Given the description of an element on the screen output the (x, y) to click on. 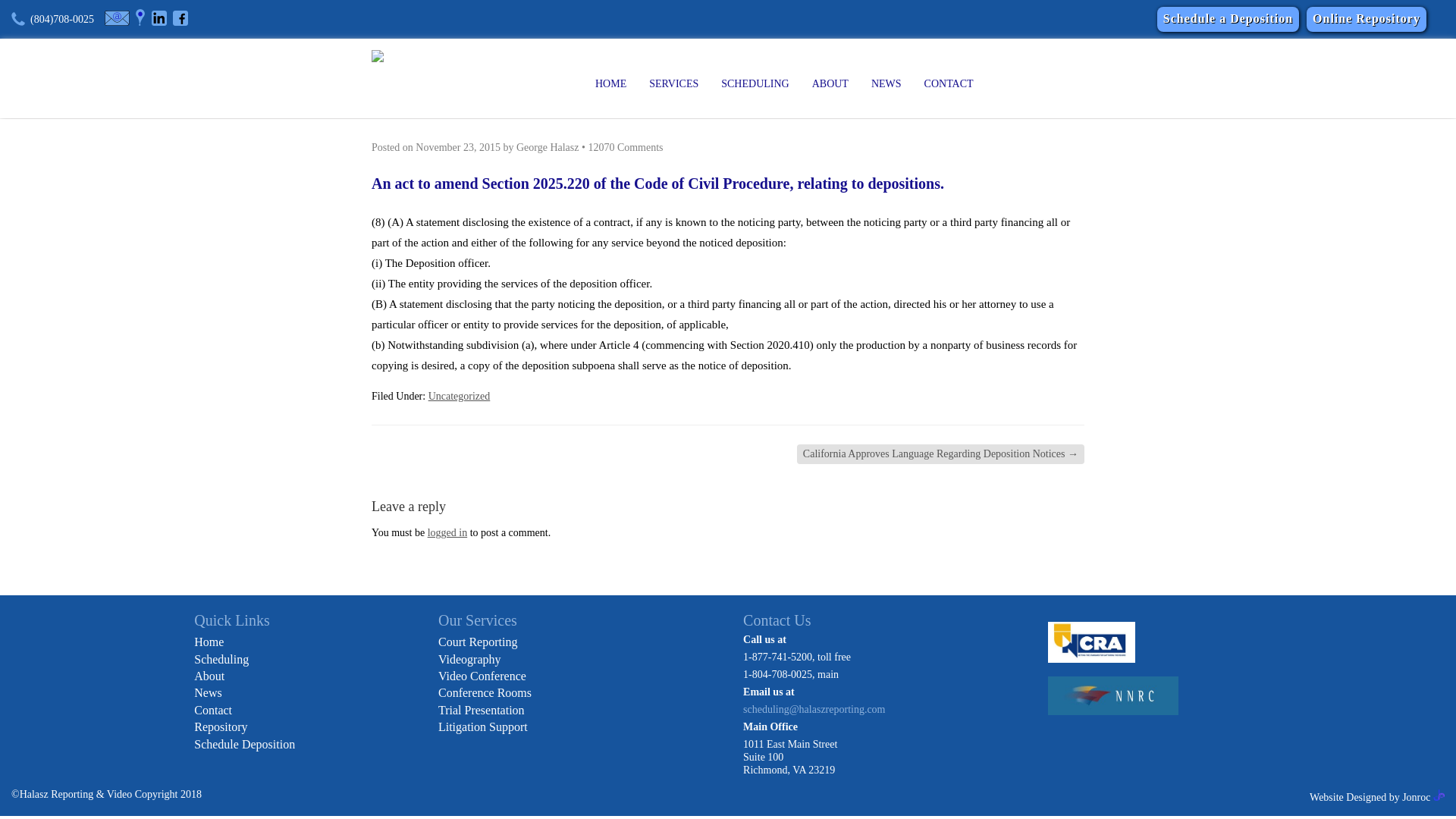
ABOUT (830, 83)
View all posts by George Halasz (547, 147)
logged in (447, 532)
Videography (469, 658)
Conference Rooms (484, 692)
Court Reporting (477, 641)
Litigation Support (482, 726)
HOME (610, 83)
Schedule Deposition (244, 744)
News (207, 692)
Trial Presentation (481, 709)
NEWS (886, 83)
Home (208, 641)
George Halasz (547, 147)
Scheduling (220, 658)
